Given the description of an element on the screen output the (x, y) to click on. 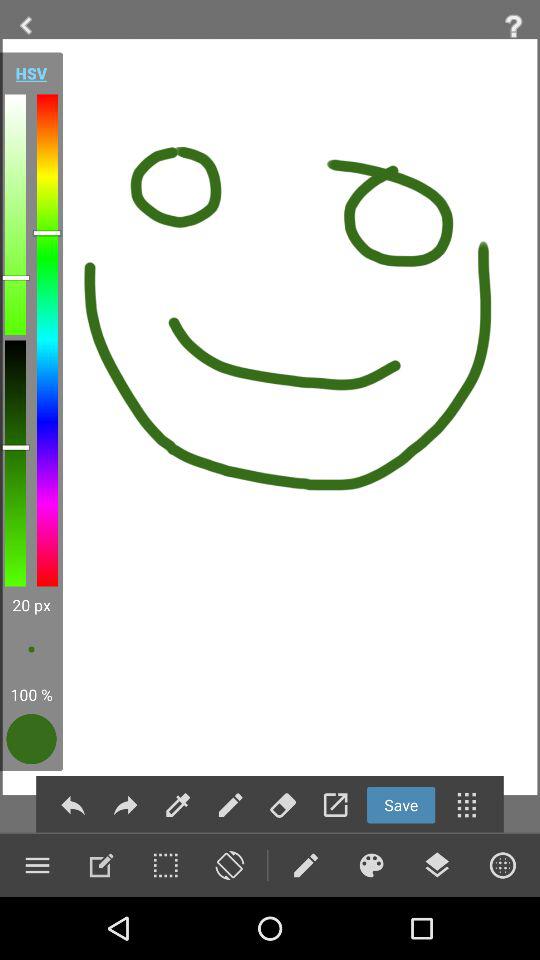
help (513, 26)
